Given the description of an element on the screen output the (x, y) to click on. 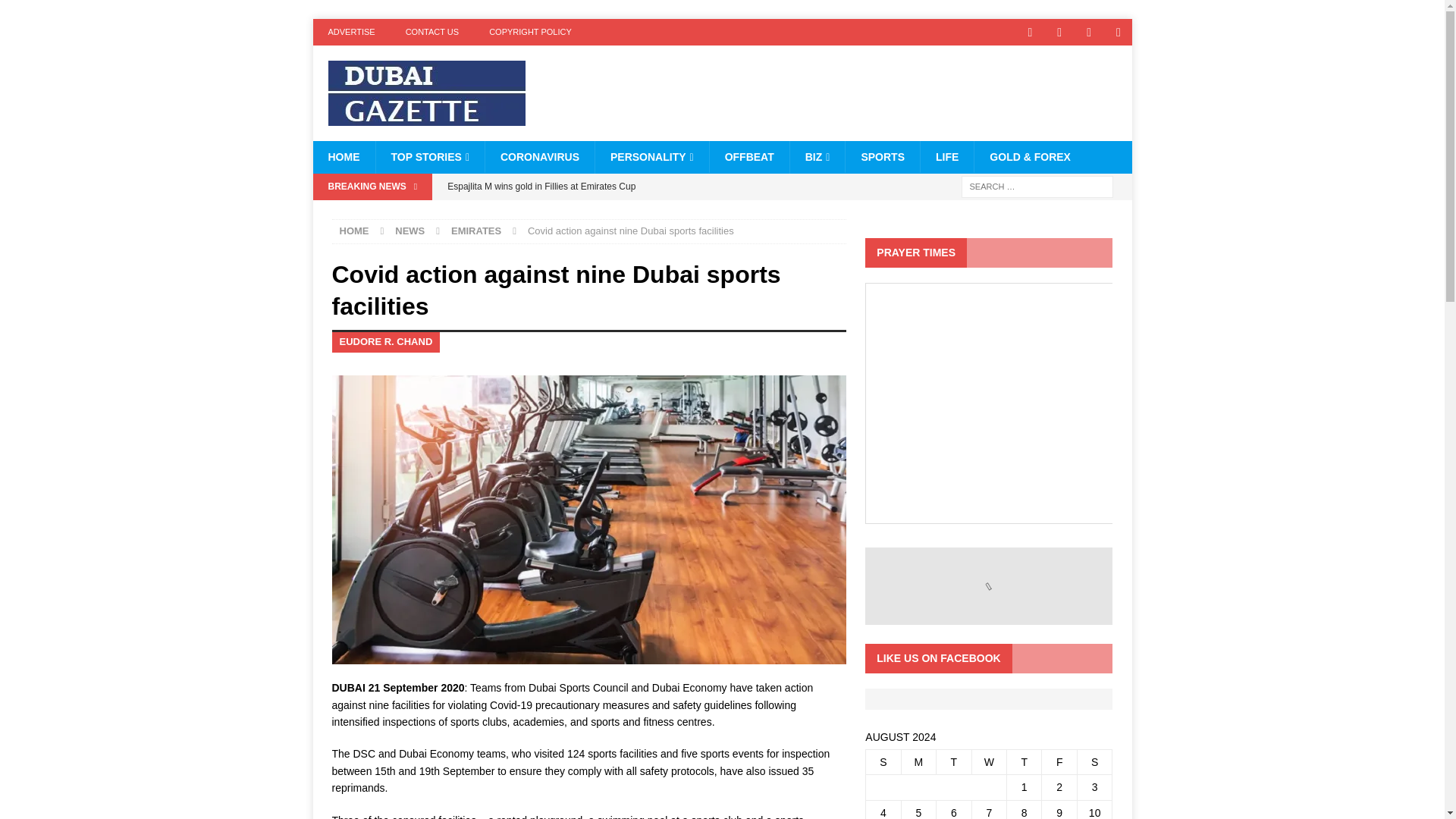
Espajlita M wins gold in Fillies at Emirates Cup (640, 186)
ADVERTISE (351, 31)
HOME (343, 156)
COPYRIGHT POLICY (530, 31)
TOP STORIES (429, 156)
Arab Youth on COP29 role (640, 212)
PERSONALITY (651, 156)
CONTACT US (432, 31)
CORONAVIRUS (539, 156)
